Given the description of an element on the screen output the (x, y) to click on. 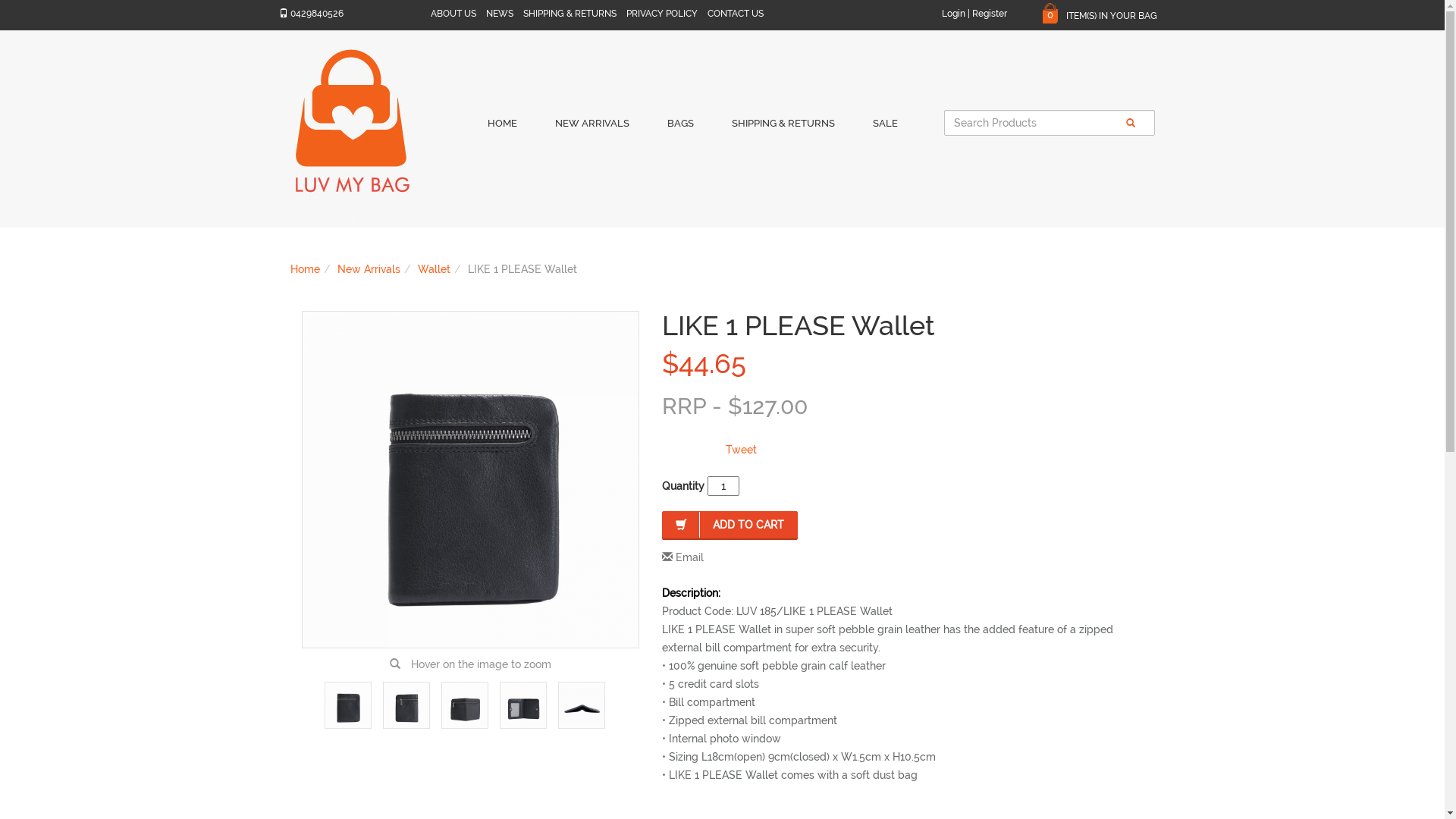
ABOUT US Element type: text (452, 13)
NEWS Element type: text (499, 13)
SHIPPING & RETURNS Element type: text (568, 13)
Tweet Element type: text (740, 449)
NEW ARRIVALS Element type: text (591, 129)
Home Element type: text (304, 269)
Register Element type: text (989, 13)
Email Element type: text (688, 557)
Wallet Element type: text (433, 269)
New Arrivals Element type: text (367, 269)
HOME Element type: text (502, 129)
Login Element type: text (953, 13)
BAGS Element type: text (679, 129)
SALE Element type: text (884, 129)
PRIVACY POLICY Element type: text (660, 13)
CONTACT US Element type: text (735, 13)
SHIPPING & RETURNS Element type: text (782, 129)
